Given the description of an element on the screen output the (x, y) to click on. 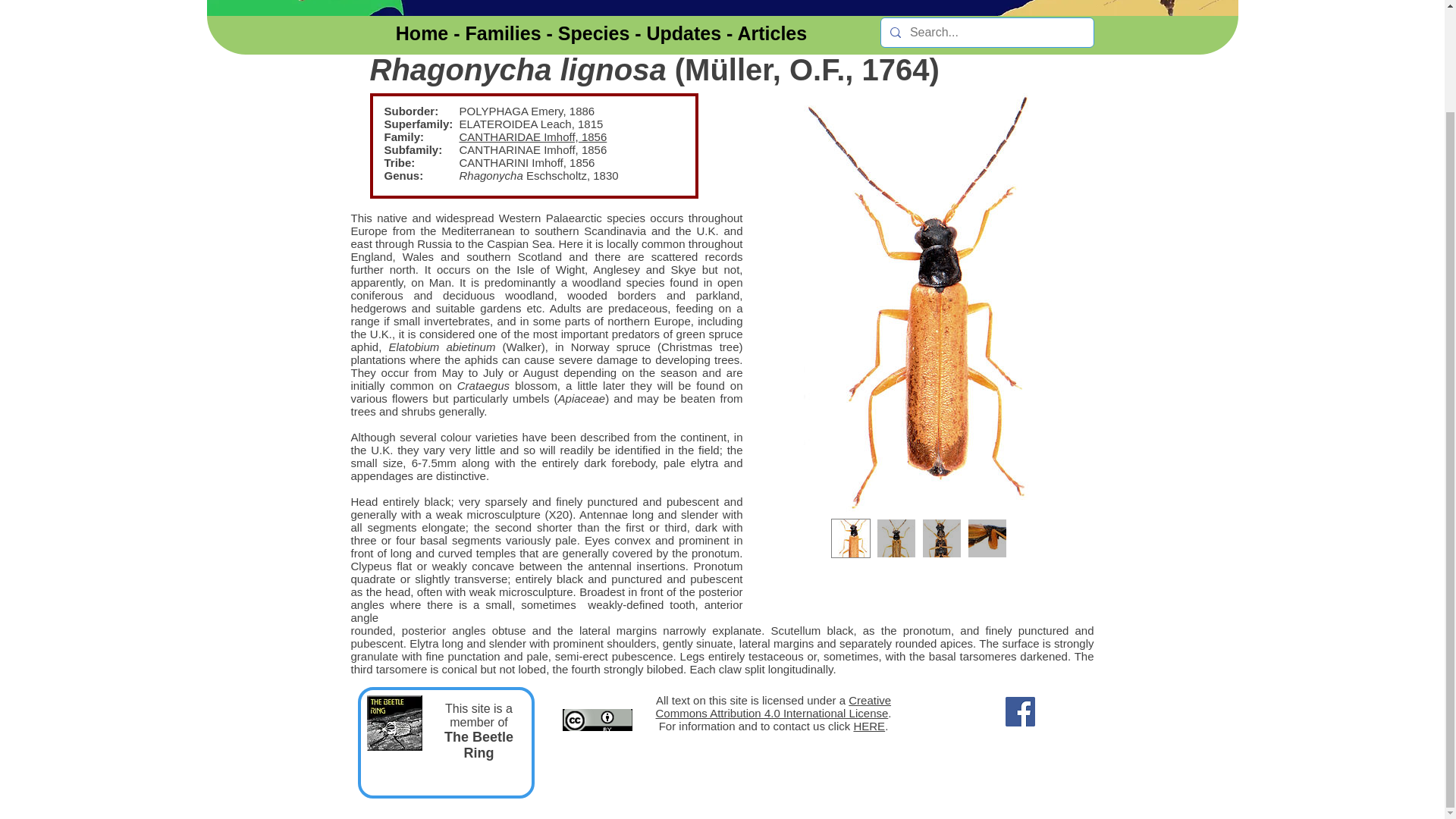
Families (503, 33)
Articles (771, 33)
Updates (684, 33)
CANTHARIDAE Imhoff, 1856 (533, 136)
HERE (869, 725)
Species (593, 33)
Creative Commons Attribution 4.0 International License (773, 706)
Home (422, 33)
The Beetle Ring (478, 744)
